Given the description of an element on the screen output the (x, y) to click on. 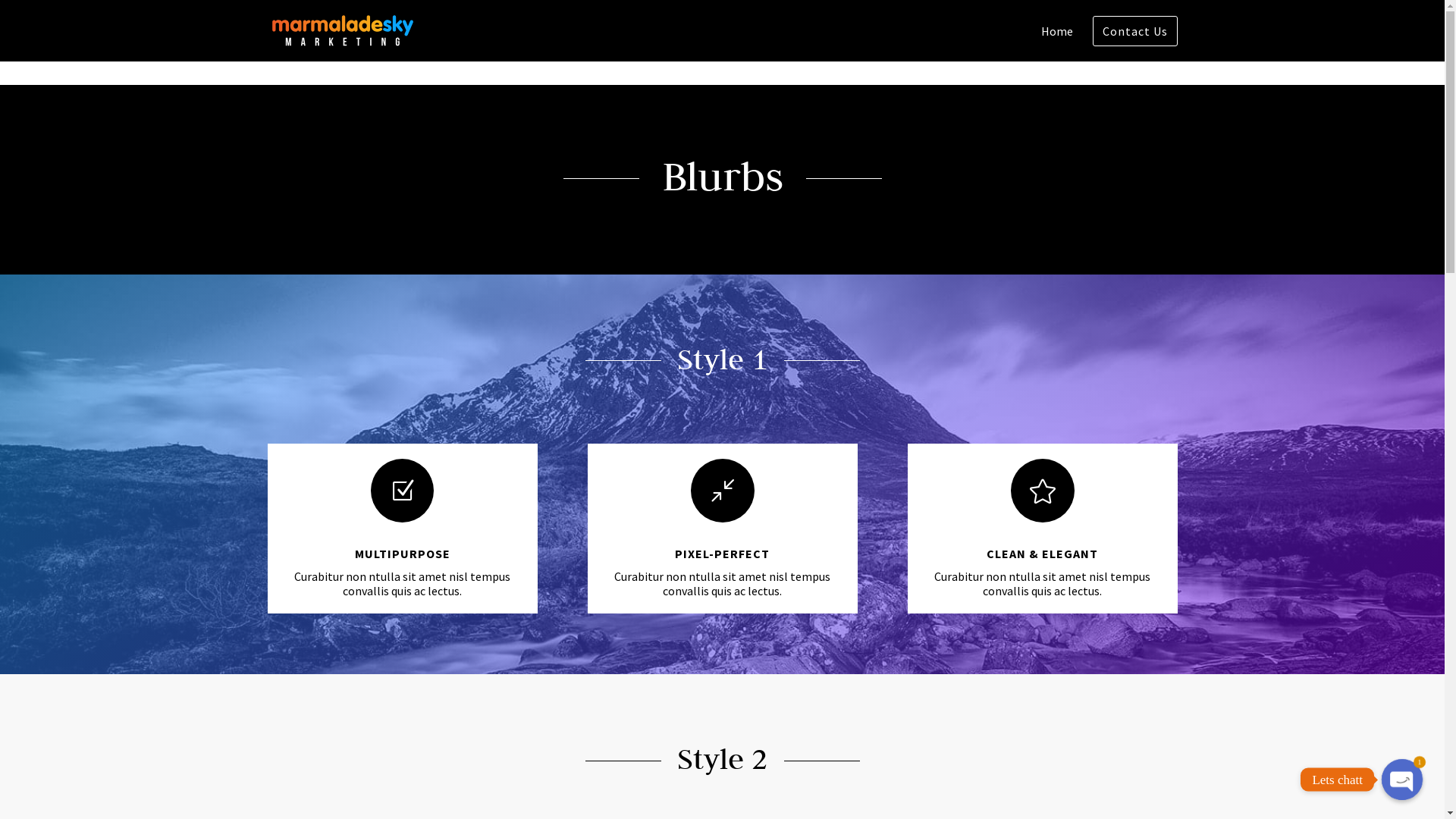
Home Element type: text (280, 757)
Contact Us Element type: text (1134, 30)
Contact Us Element type: text (340, 757)
Home Element type: text (1056, 43)
